Given the description of an element on the screen output the (x, y) to click on. 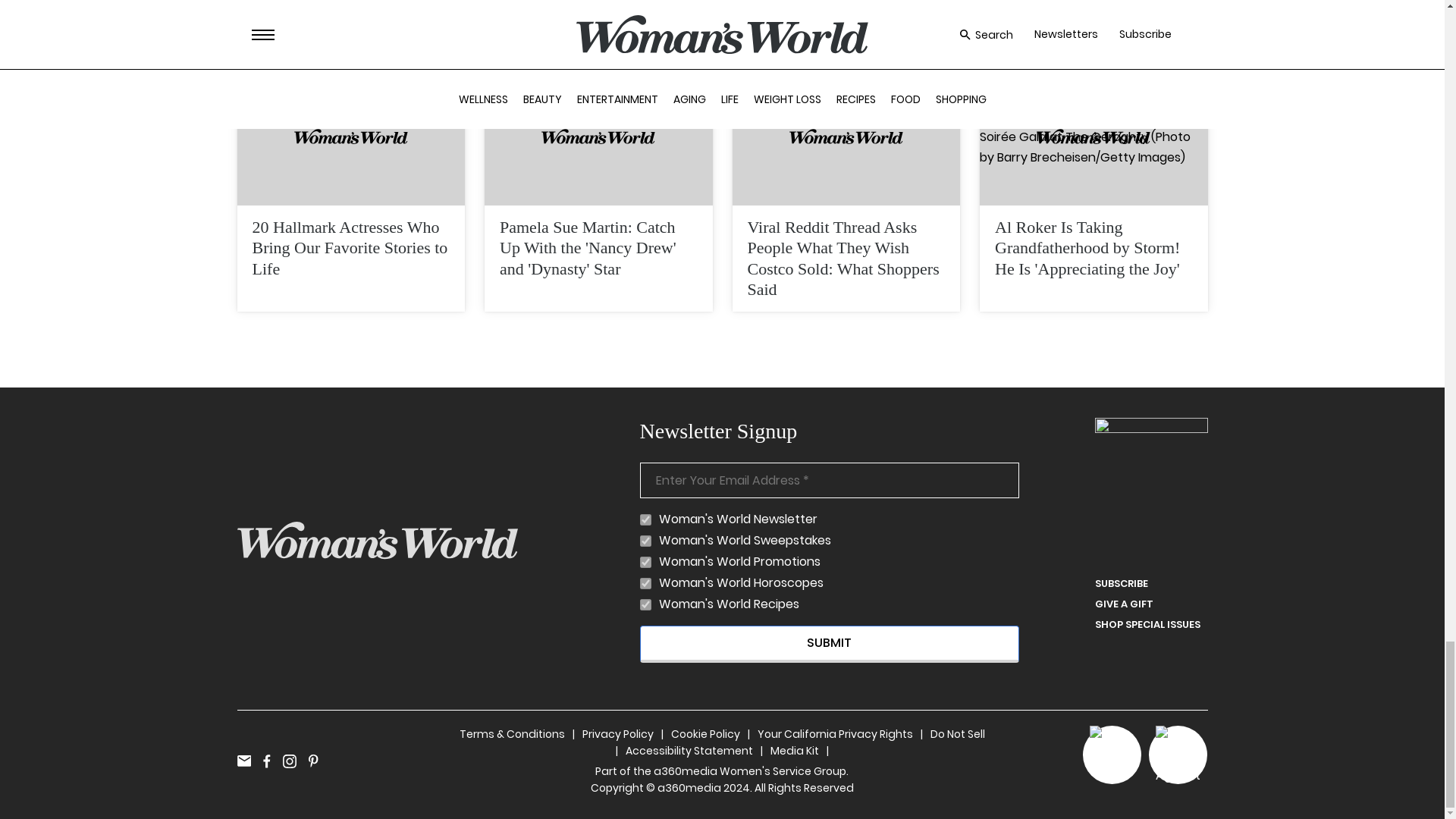
1 (645, 583)
1 (645, 541)
1 (645, 604)
1 (645, 562)
1 (645, 519)
